Given the description of an element on the screen output the (x, y) to click on. 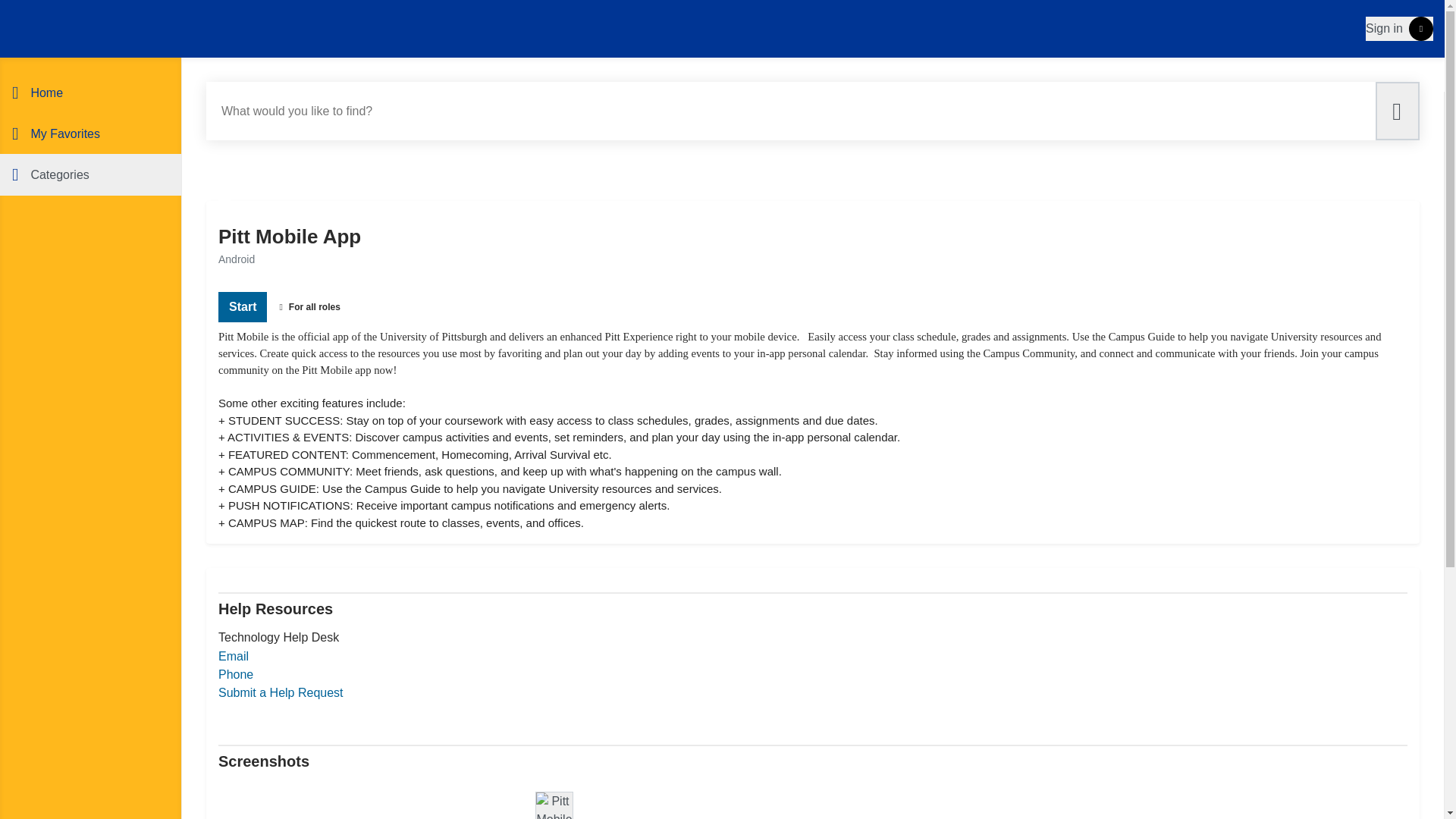
My Favorites (90, 133)
Categories (90, 174)
My Favorites (90, 133)
Phone (235, 674)
Categories (90, 174)
Submit a Help Request (280, 692)
Home (90, 92)
Email (233, 656)
Home (90, 92)
Start (242, 306)
